Given the description of an element on the screen output the (x, y) to click on. 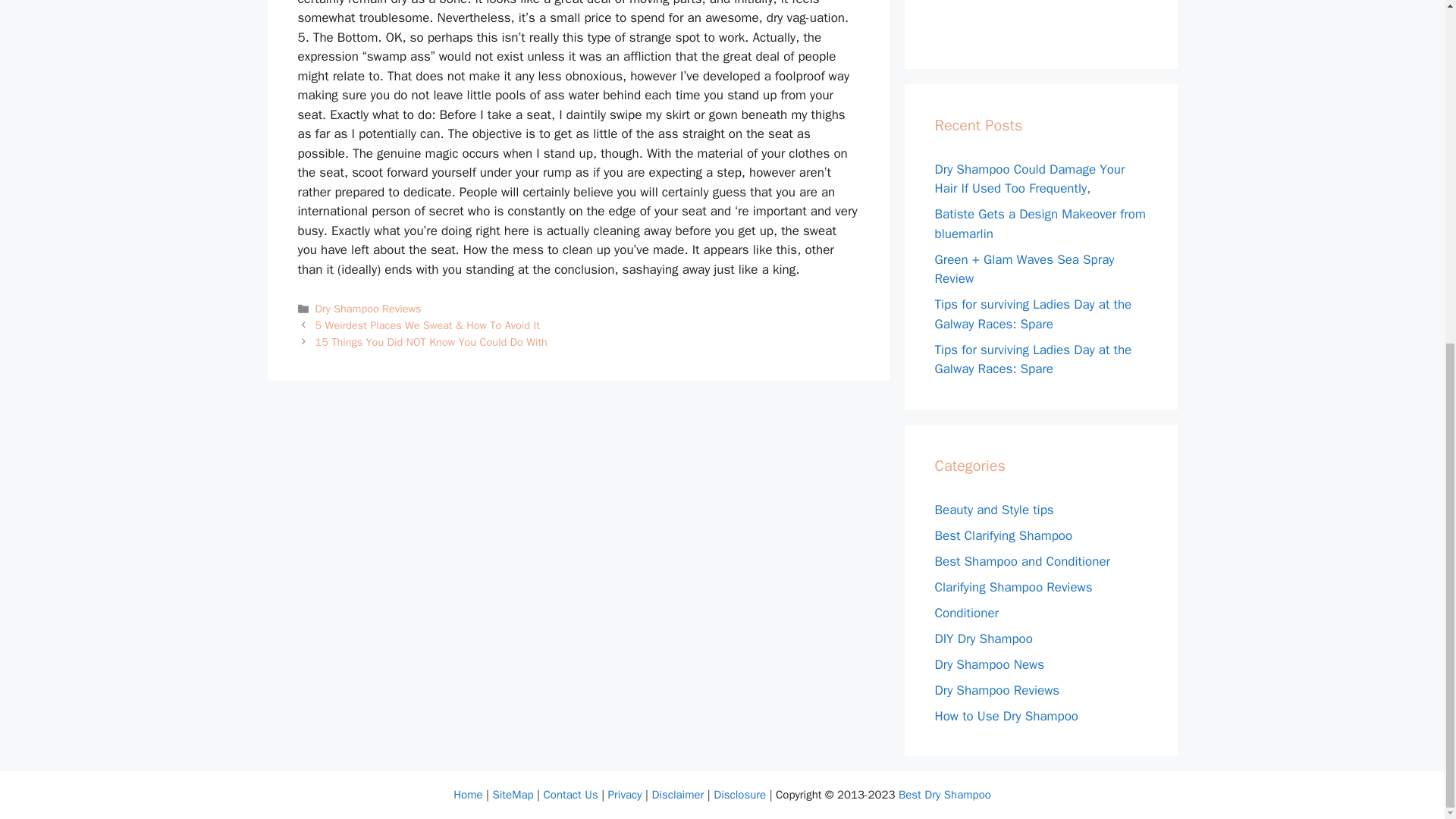
Advertisement (1047, 16)
Best Clarifying Shampoo (1002, 535)
Best Dry Shampoo (944, 794)
Privacy (625, 794)
Conditioner (966, 612)
Disclosure (739, 794)
Disclaimer (676, 794)
Tips for surviving Ladies Day at the Galway Races: Spare (1032, 314)
Clarifying Shampoo Reviews (1013, 587)
Best Shampoo and Conditioner (1021, 561)
